Given the description of an element on the screen output the (x, y) to click on. 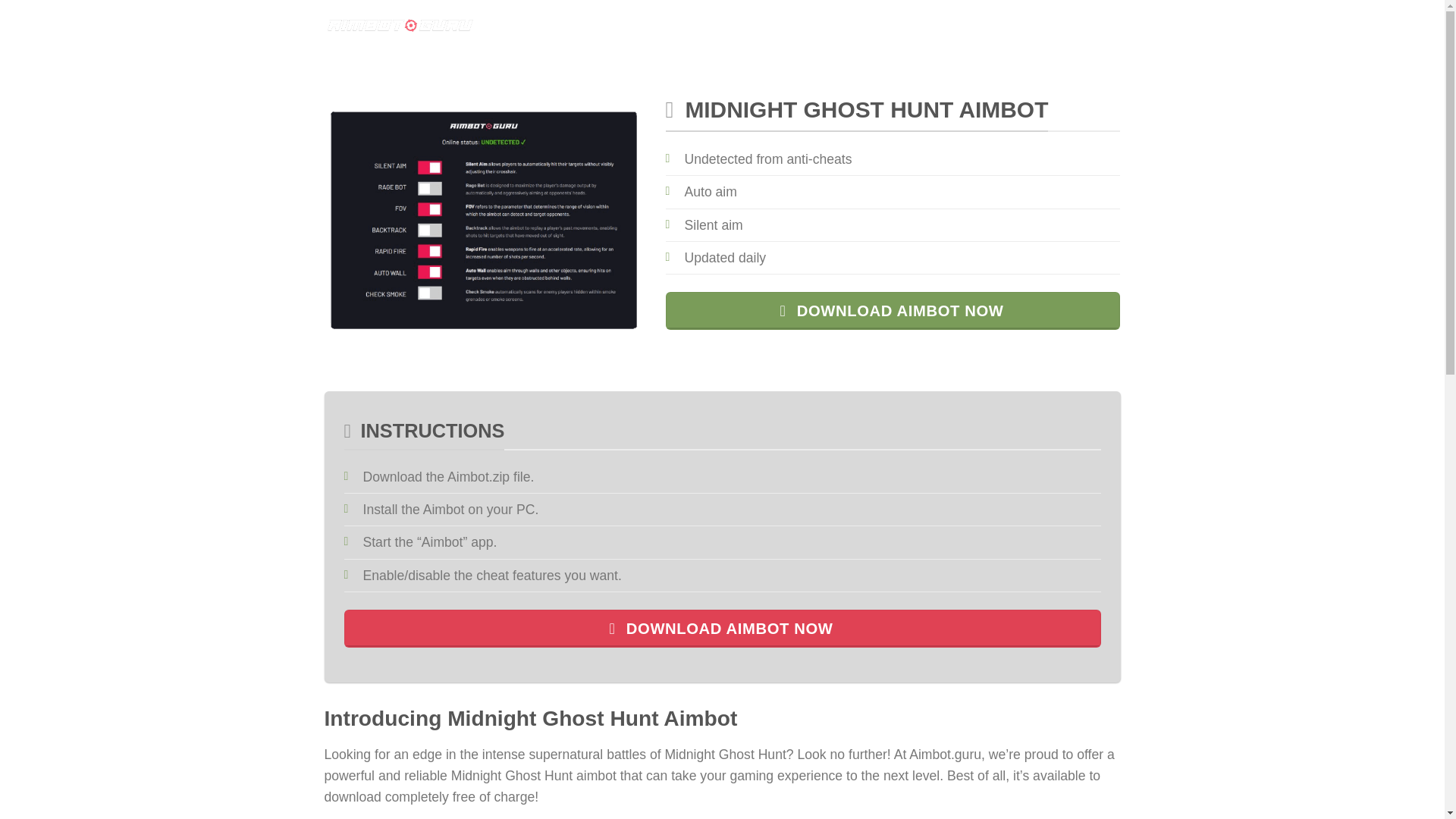
Aimbot Guru - Undetected aimbots for games (400, 25)
DOWNLOAD AIMBOT NOW (893, 310)
DOWNLOAD AIMBOT NOW (721, 628)
AIMBOTS (546, 25)
